Given the description of an element on the screen output the (x, y) to click on. 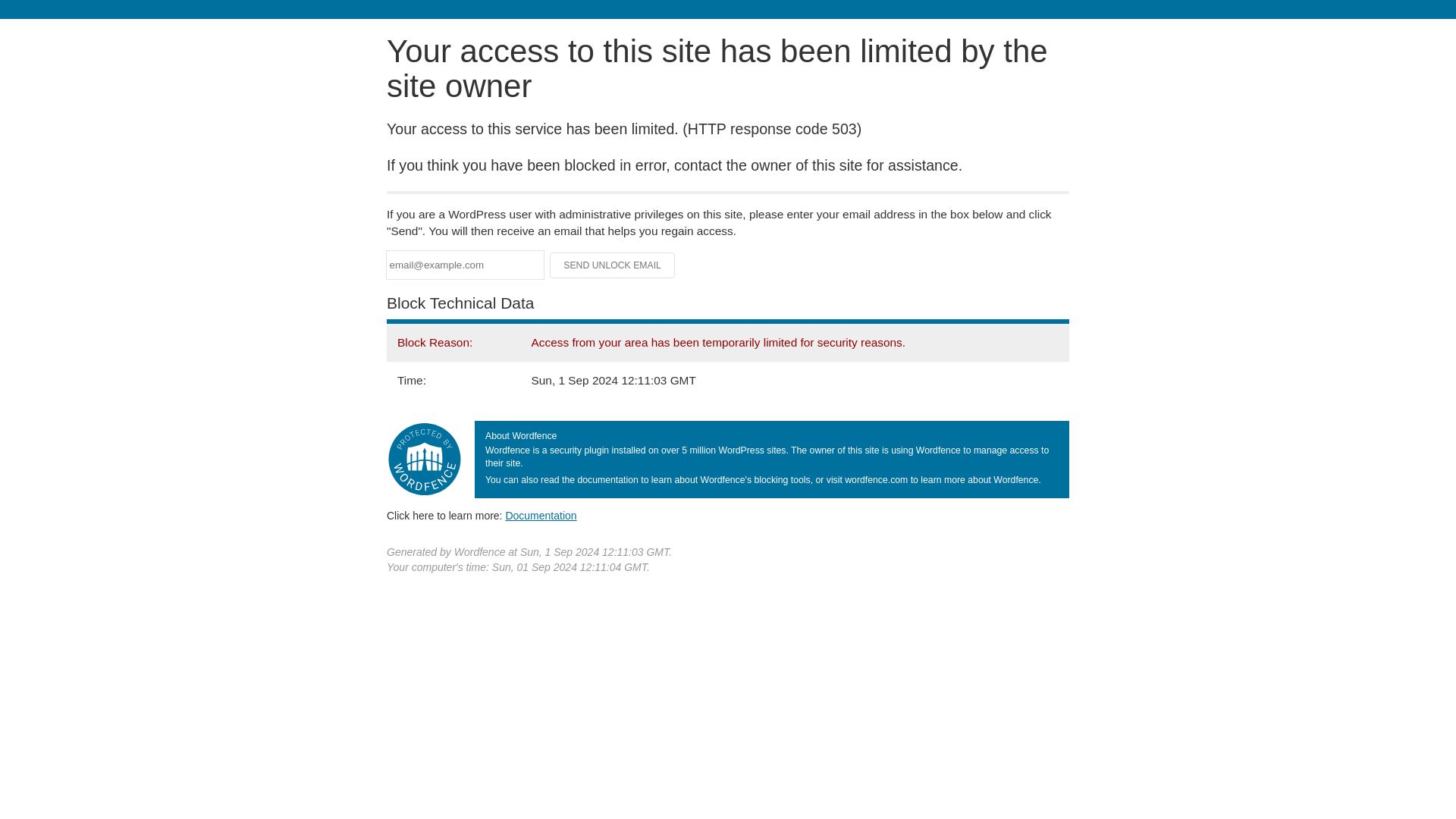
Send Unlock Email (612, 265)
Send Unlock Email (612, 265)
Documentation (540, 515)
